Given the description of an element on the screen output the (x, y) to click on. 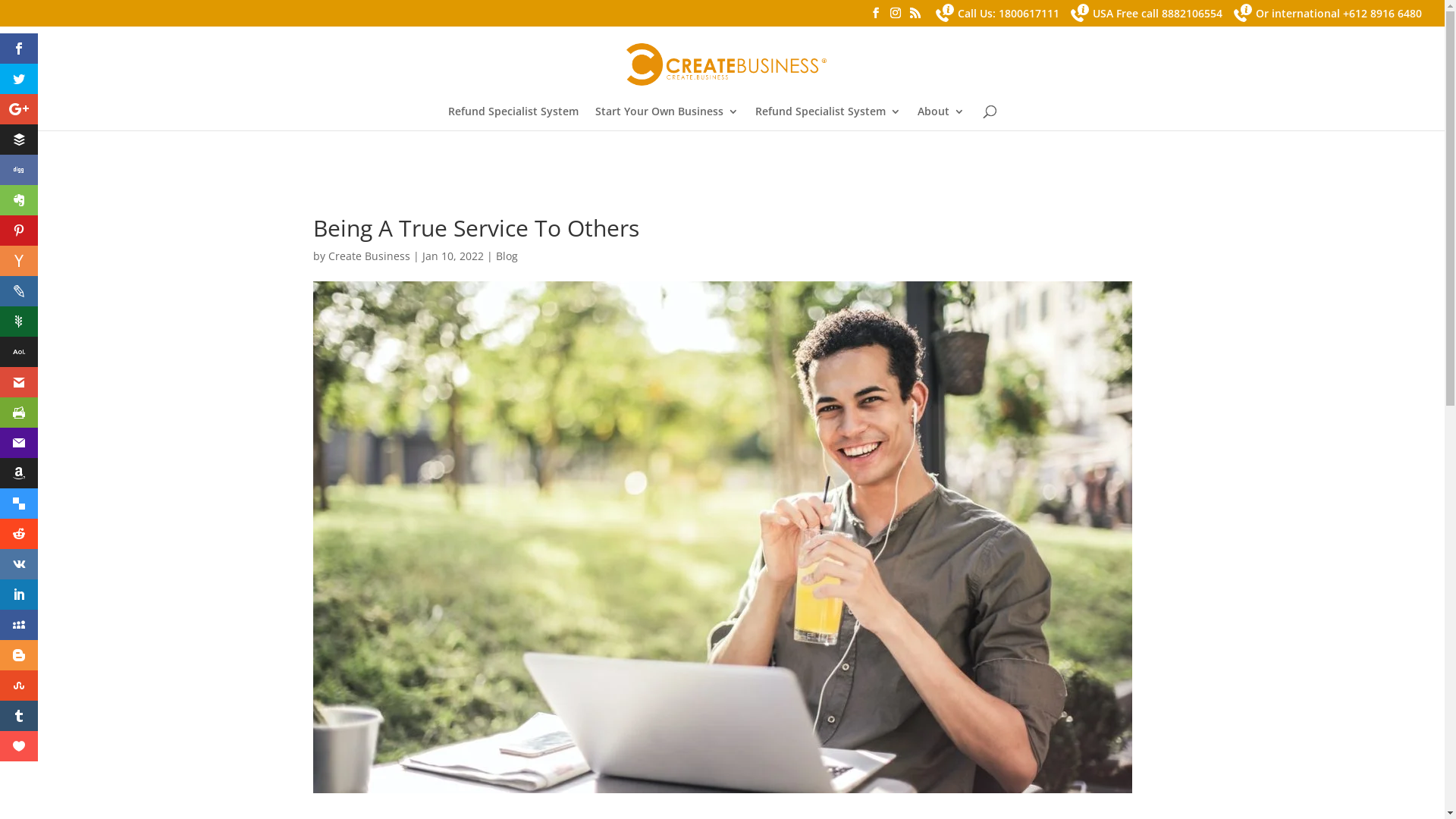
Blog Element type: text (506, 255)
Call Us: 1800617111 Element type: text (997, 16)
USA Free call 8882106554 Element type: text (1146, 16)
About Element type: text (940, 118)
Start Your Own Business Element type: text (666, 118)
Create Business Element type: text (368, 255)
Refund Specialist System Element type: text (827, 118)
Or international +612 8916 6480 Element type: text (1327, 16)
Refund Specialist System Element type: text (513, 118)
